Given the description of an element on the screen output the (x, y) to click on. 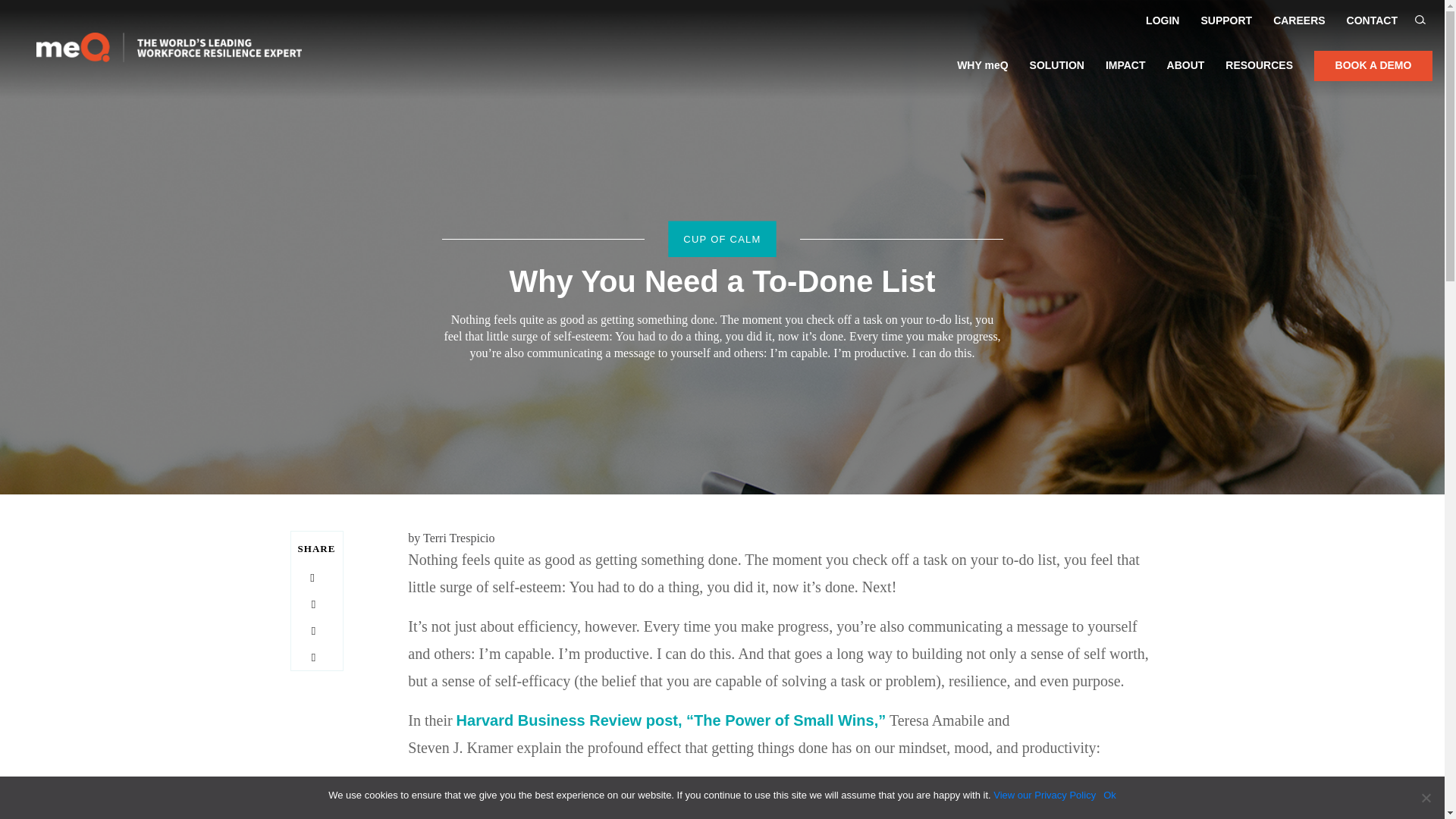
CONTACT (1371, 20)
RESOURCES (1258, 73)
Share on Twitter (312, 604)
No (1425, 797)
WHY meQ (981, 73)
BOOK A DEMO (1373, 65)
IMPACT (1125, 73)
SOLUTION (1056, 73)
CUP OF CALM (721, 238)
meQuilibrium (168, 51)
Share on Facebook (311, 577)
Share on LinkedIn (312, 630)
SUPPORT (1225, 20)
Share via Email (312, 656)
ABOUT (1186, 73)
